Given the description of an element on the screen output the (x, y) to click on. 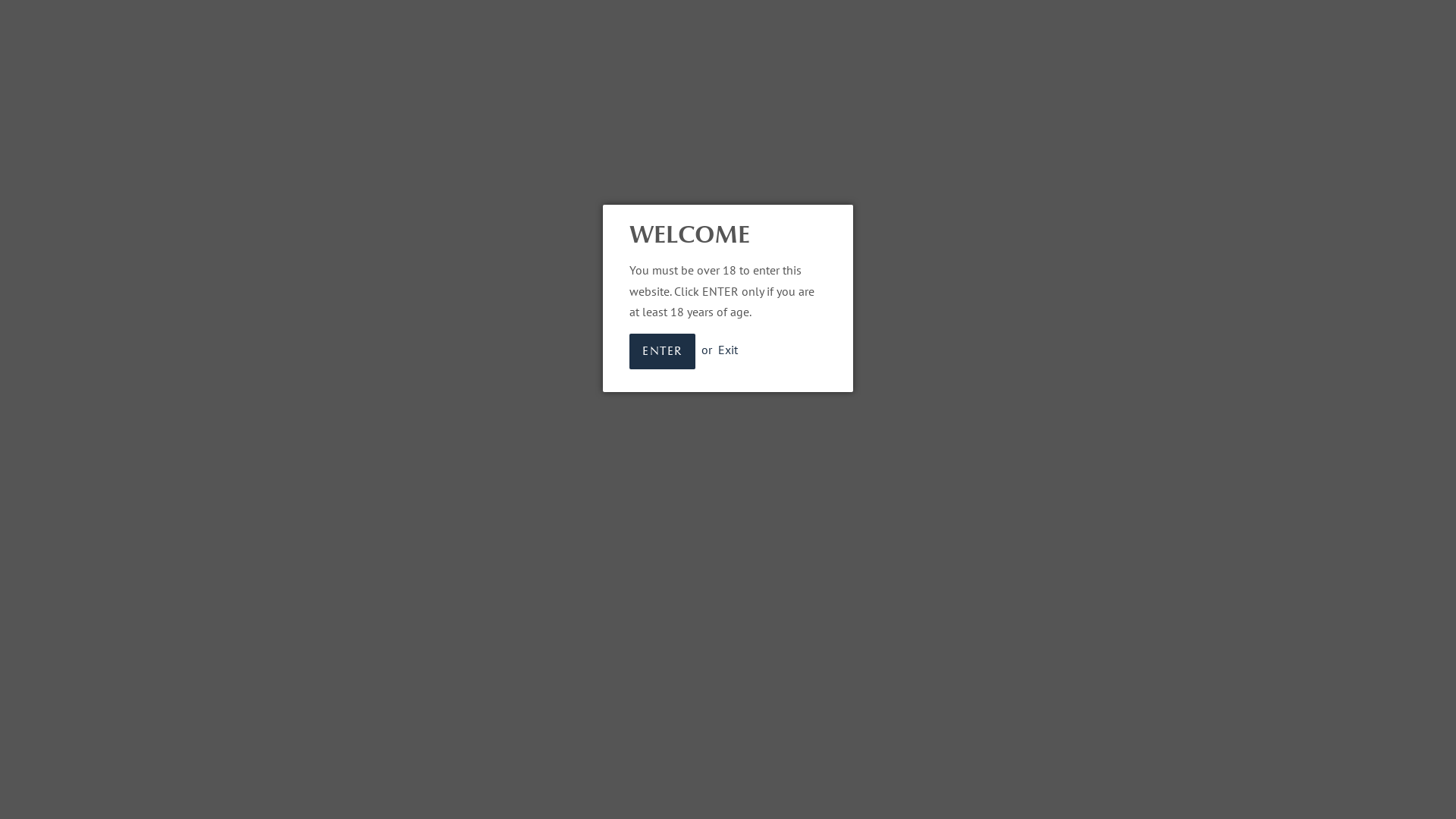
HOME Element type: text (652, 96)
WINE CLUB Element type: text (857, 96)
Privacy Policy Element type: text (274, 449)
here Element type: text (487, 218)
GILBERT FAMILY WINES Element type: text (724, 513)
Create account Element type: text (1117, 18)
Search Element type: text (257, 349)
OUR STORY Element type: text (1162, 96)
Distributors Element type: text (270, 389)
THE CELLAR BY GILBERT Element type: text (1010, 96)
Our House Policy Element type: text (282, 469)
ENTER Element type: text (662, 351)
SEARCH Element type: text (254, 18)
Terms and Conditions Element type: text (292, 429)
Cart Element type: text (1203, 18)
Instagram Element type: text (775, 353)
Contact Us Element type: text (267, 369)
SHOP WINE Element type: text (744, 96)
Log in Element type: text (1044, 18)
Exit Element type: text (727, 349)
Facebook Element type: text (747, 353)
Shipping and Returns Element type: text (292, 409)
Powered by Shopify Element type: text (828, 513)
